Given the description of an element on the screen output the (x, y) to click on. 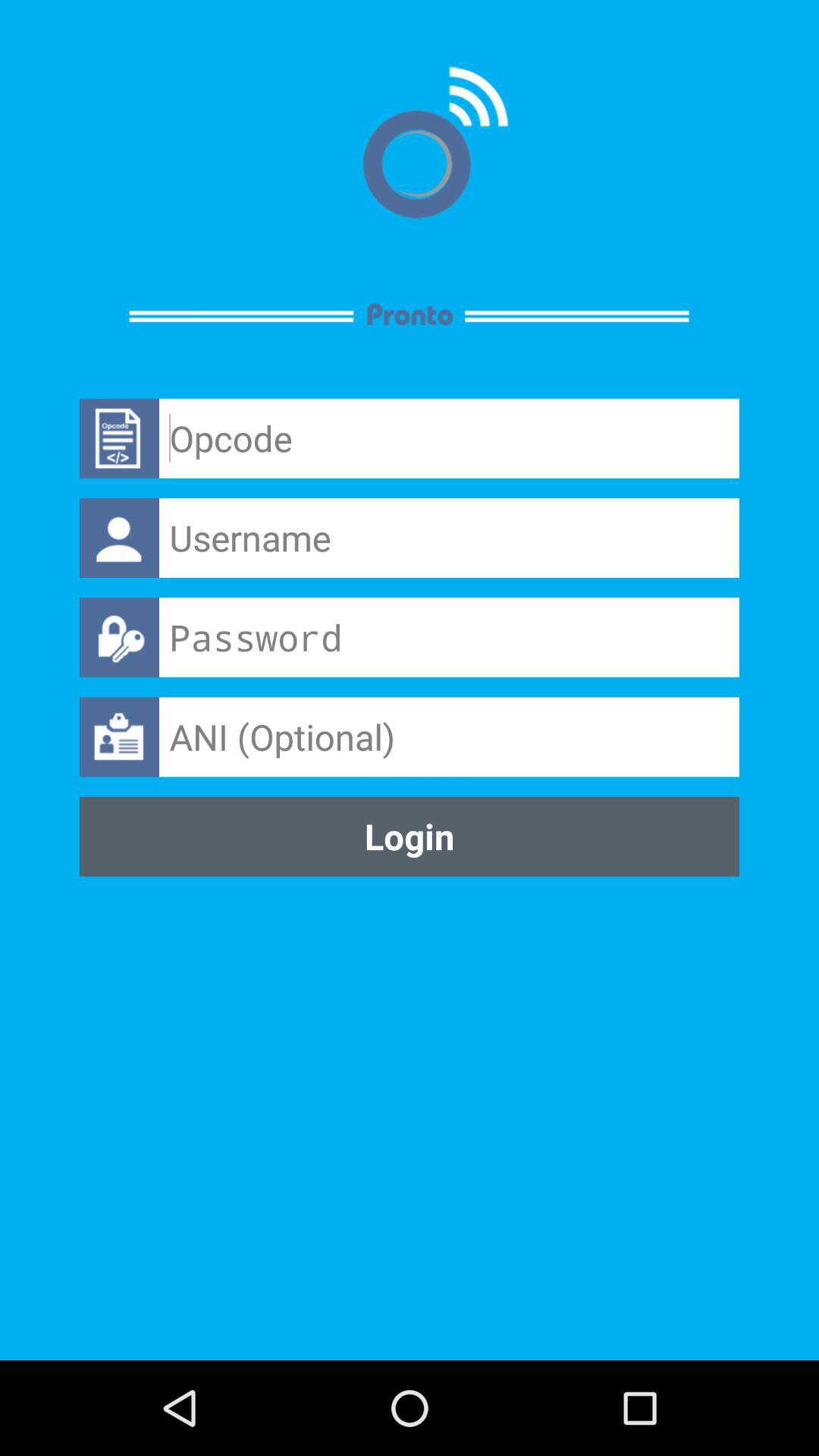
enter your password (449, 637)
